Given the description of an element on the screen output the (x, y) to click on. 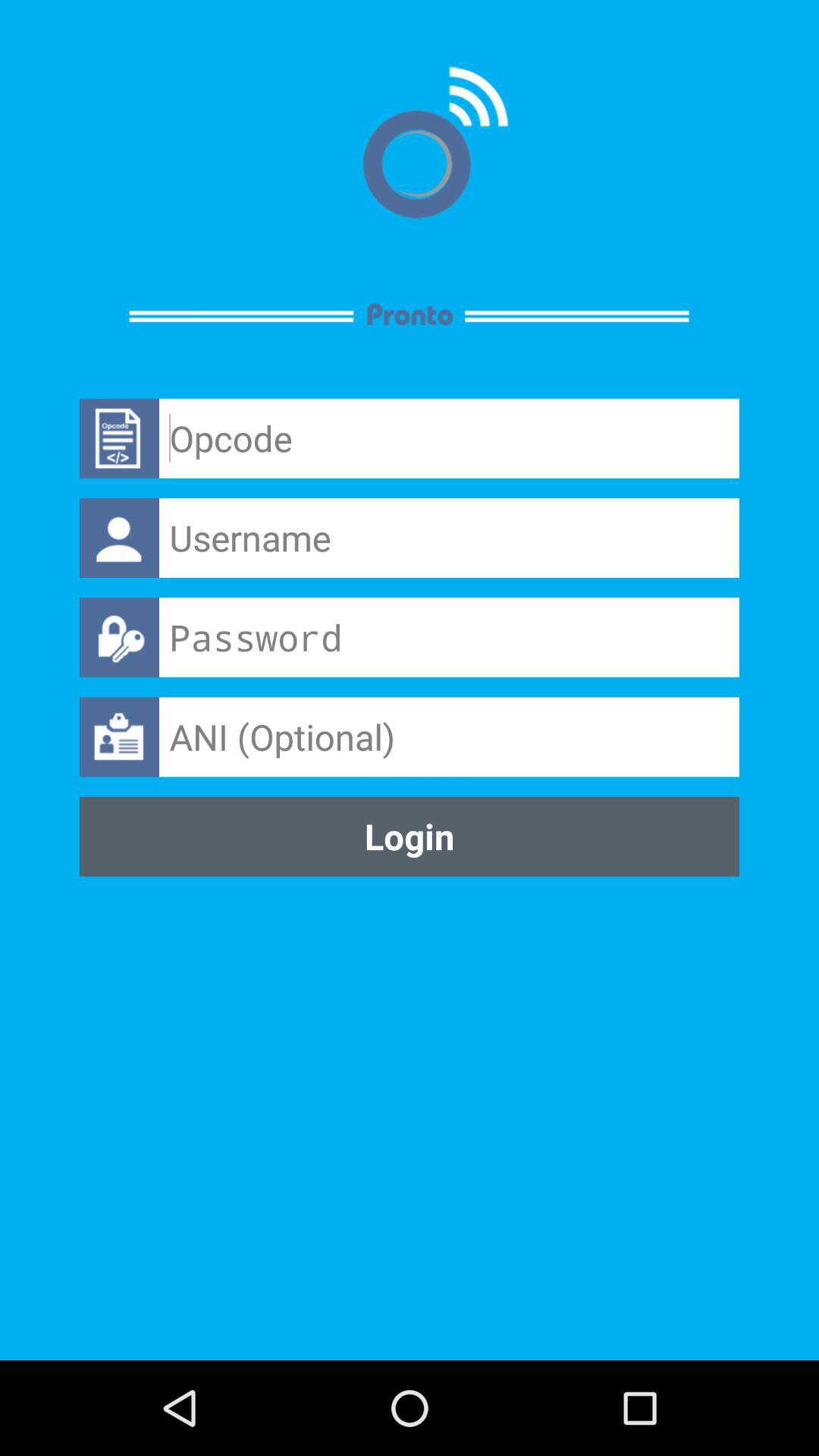
enter your password (449, 637)
